Given the description of an element on the screen output the (x, y) to click on. 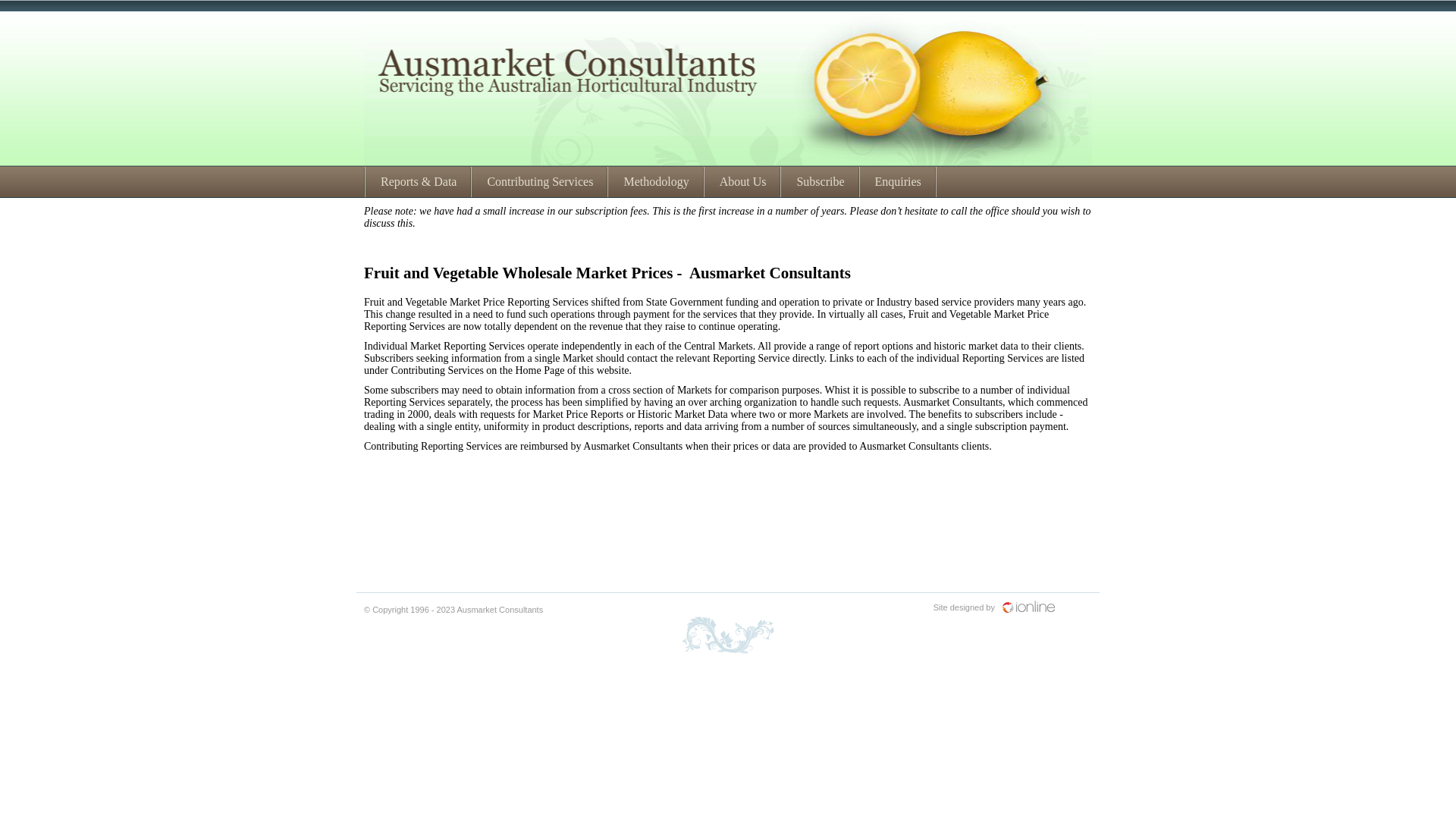
Subscribe Element type: text (820, 181)
Enquiries Element type: text (897, 181)
About Us Element type: text (742, 181)
Contributing Services Element type: text (539, 181)
Reports & Data Element type: text (418, 181)
iOnline Element type: text (1047, 613)
Methodology Element type: text (655, 181)
